Given the description of an element on the screen output the (x, y) to click on. 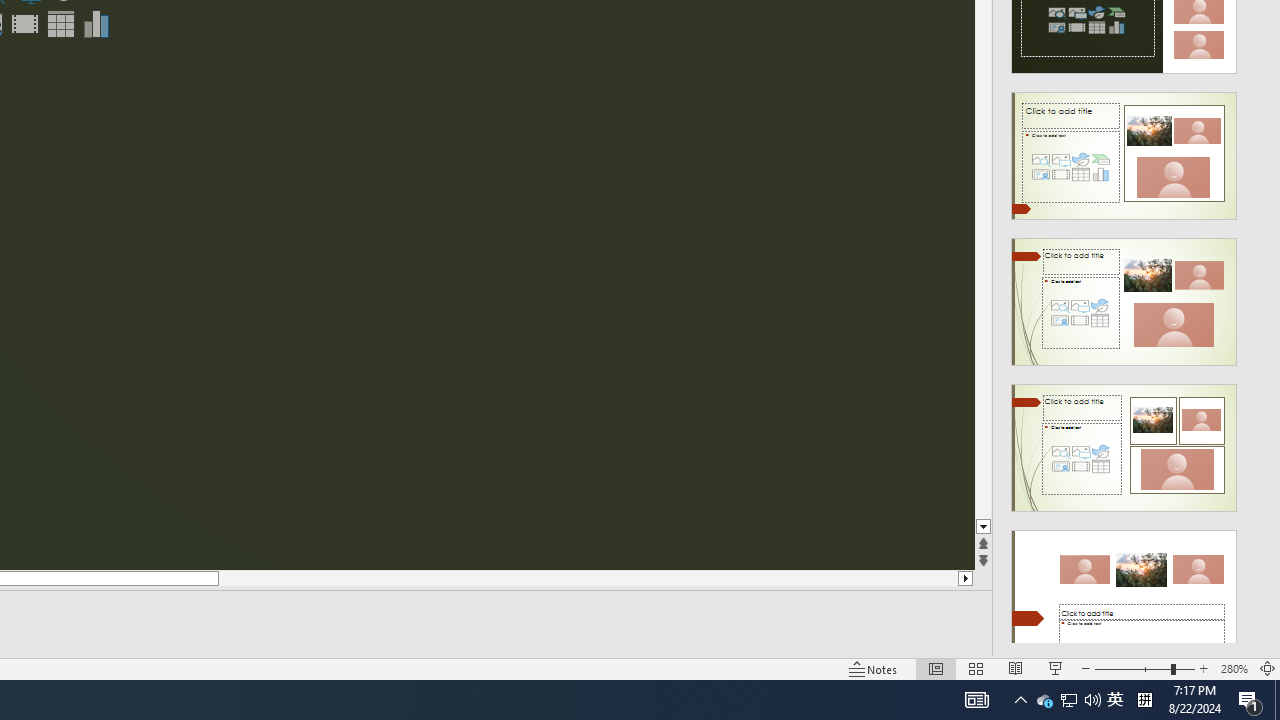
Insert Chart (96, 23)
